Given the description of an element on the screen output the (x, y) to click on. 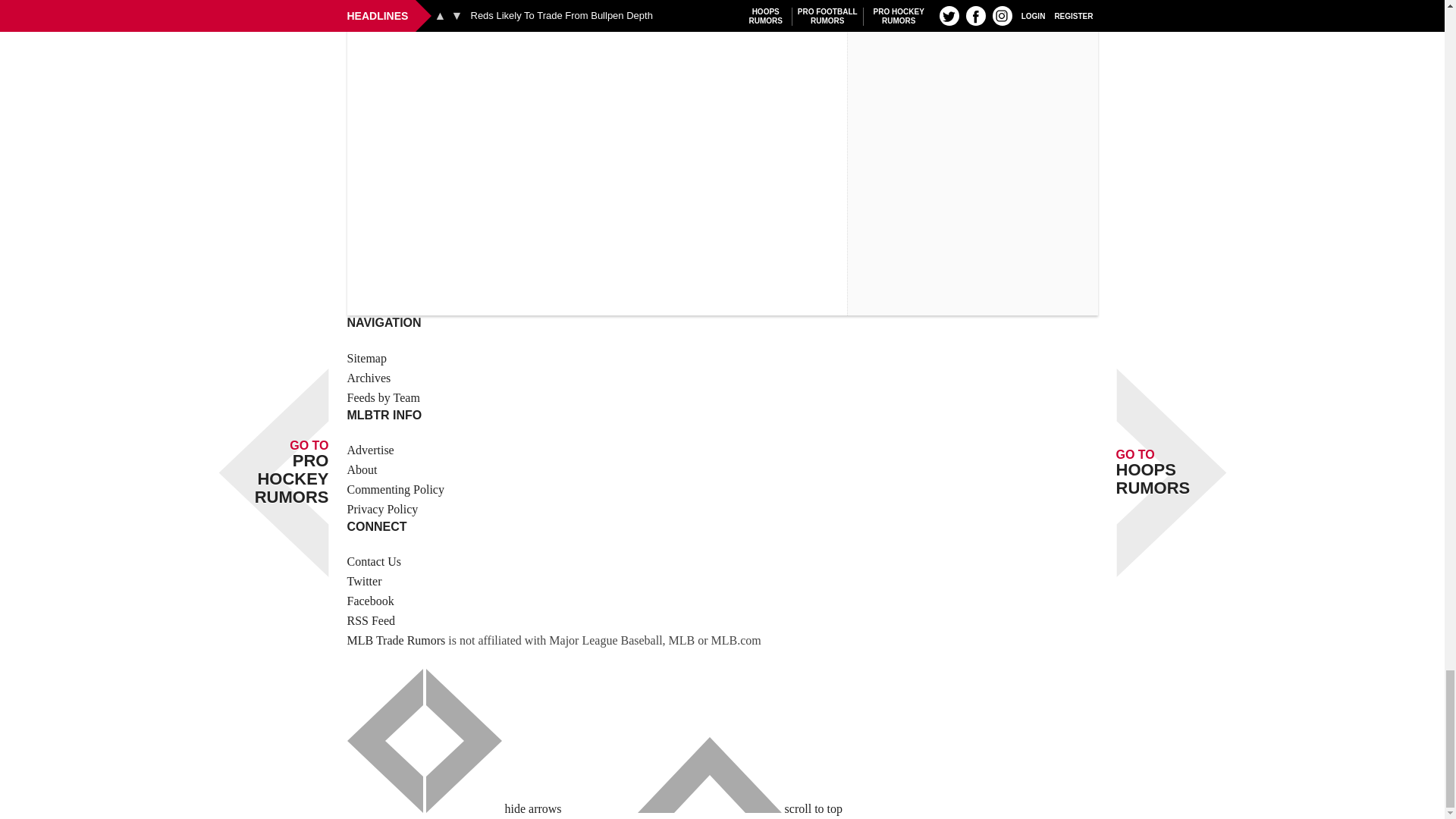
MLB Trade Rumors (396, 640)
